Given the description of an element on the screen output the (x, y) to click on. 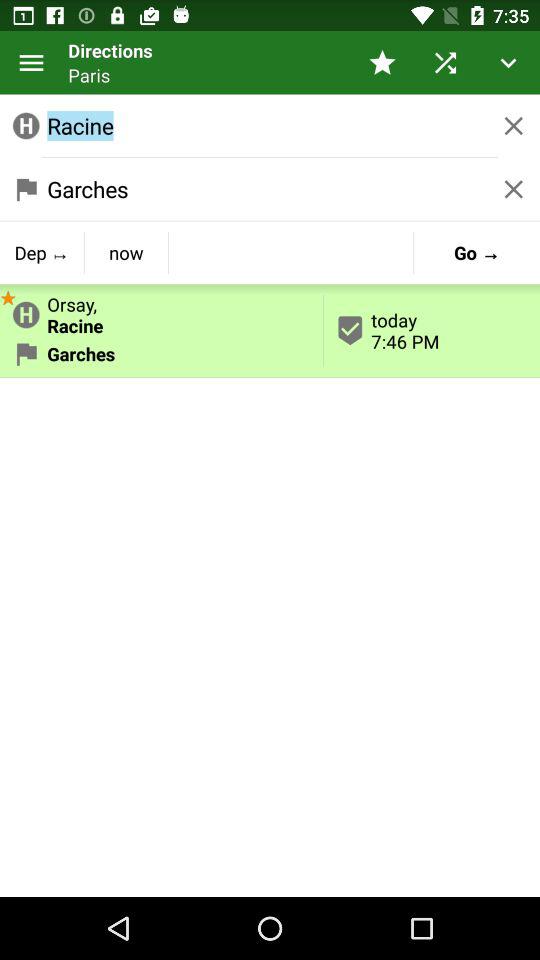
launch item below garches icon (126, 252)
